Given the description of an element on the screen output the (x, y) to click on. 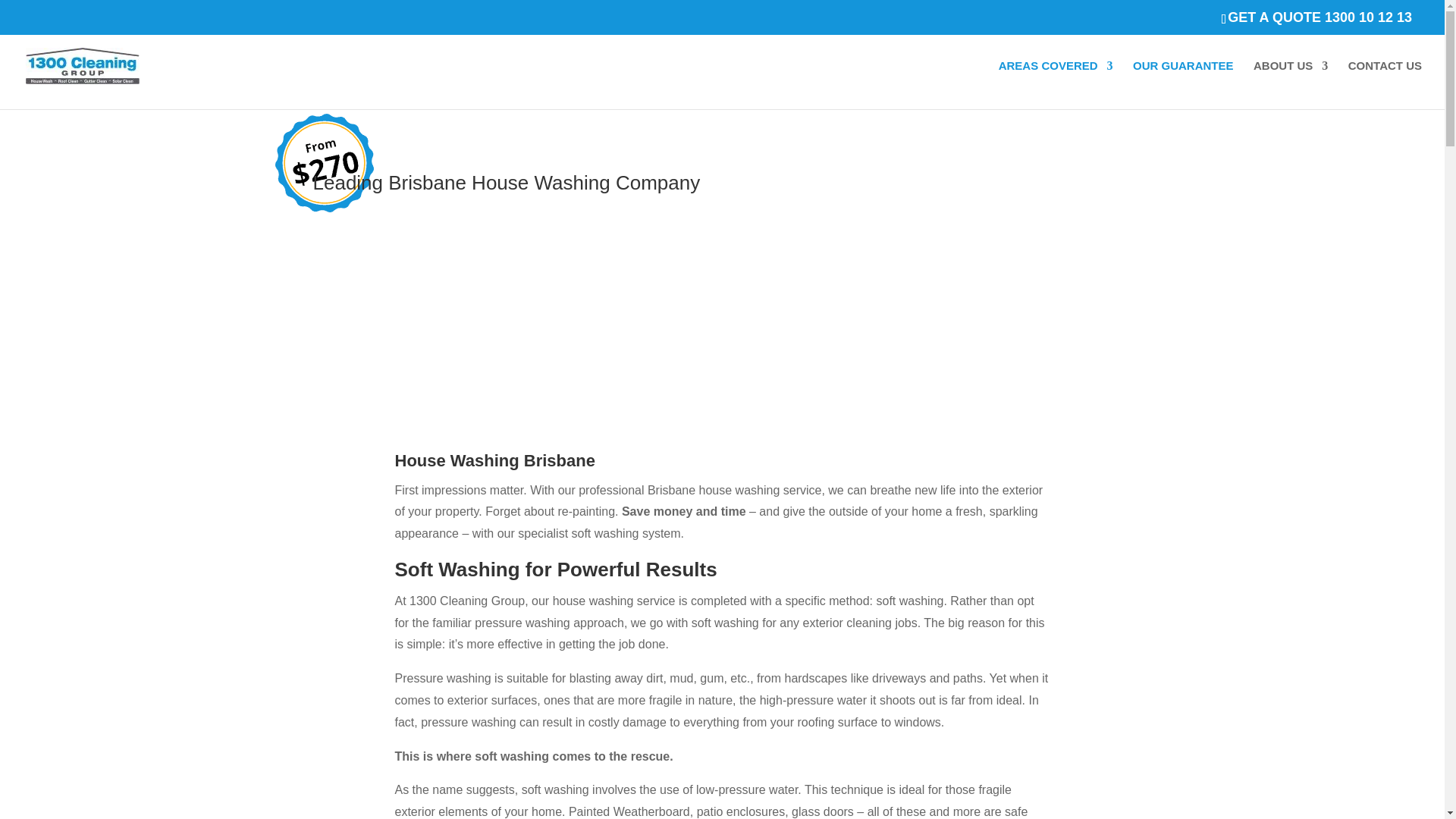
CONTACT US (1385, 84)
AREAS COVERED (1055, 84)
ABOUT US (1290, 84)
OUR GUARANTEE (1182, 84)
